Given the description of an element on the screen output the (x, y) to click on. 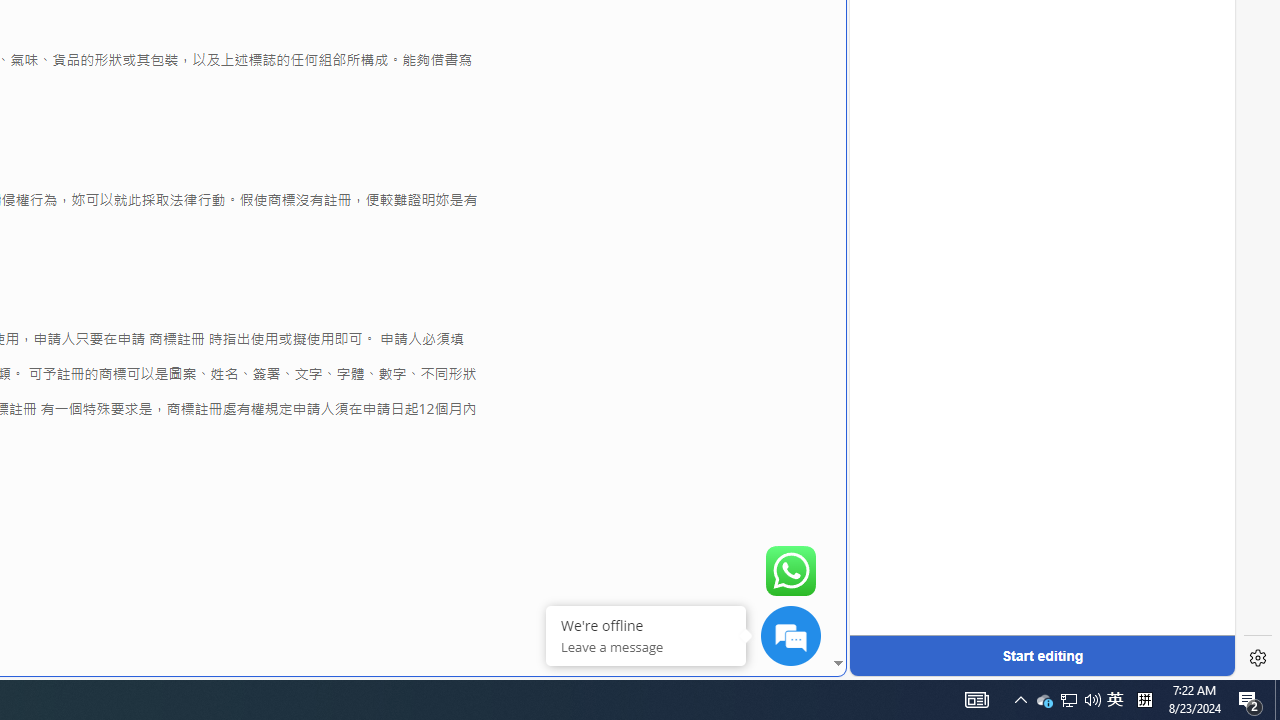
Global web icon (888, 663)
Start editing (1042, 655)
Actions for this site (1129, 306)
google_privacy_policy_zh-CN.pdf (687, 482)
